Given the description of an element on the screen output the (x, y) to click on. 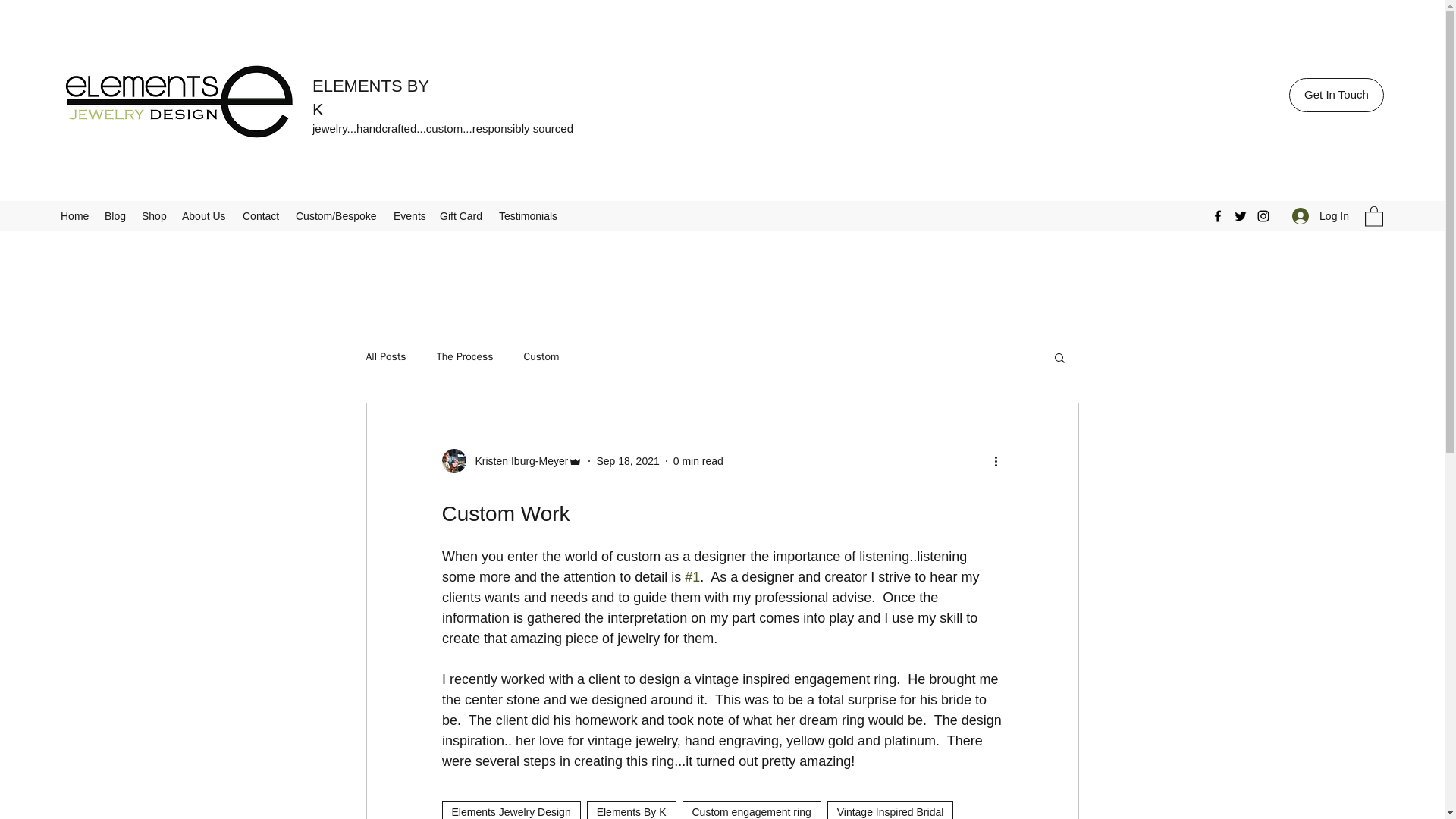
Elements By K (631, 809)
0 min read (697, 460)
All Posts (385, 356)
Vintage Inspired Bridal (890, 809)
Custom (541, 356)
Kristen Iburg-Meyer (511, 460)
Sep 18, 2021 (627, 460)
Contact (261, 215)
Events (408, 215)
Gift Card (462, 215)
Custom engagement ring (751, 809)
Log In (1320, 215)
Testimonials (527, 215)
Elements Jewelry Design (510, 809)
About Us (204, 215)
